Given the description of an element on the screen output the (x, y) to click on. 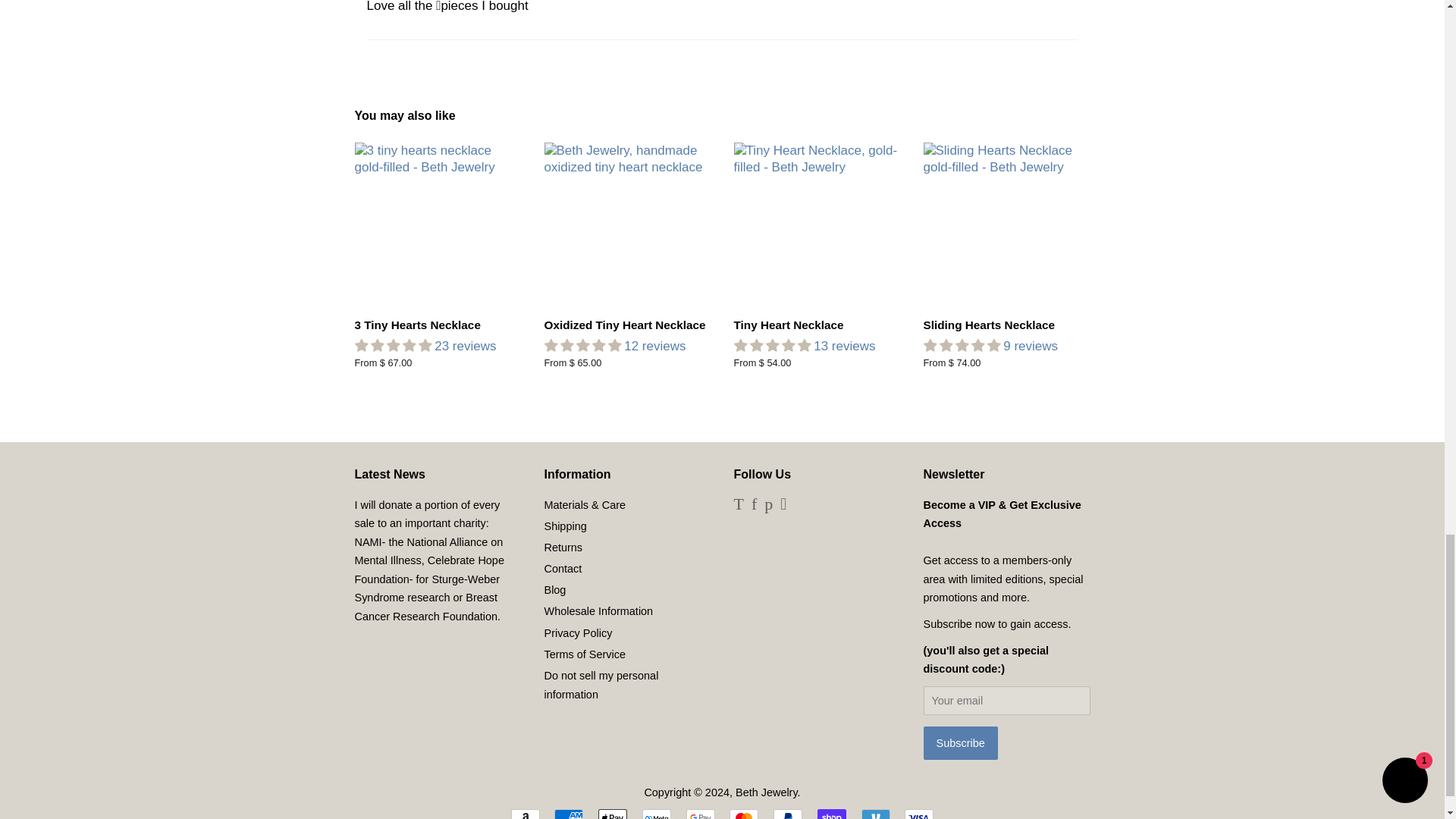
Apple Pay (612, 814)
Shop Pay (830, 814)
Mastercard (743, 814)
Beth Jewelry on Twitter (738, 505)
Beth Jewelry on Pinterest (768, 505)
Subscribe (960, 743)
Beth Jewelry on Instagram (783, 505)
Beth Jewelry on Facebook (754, 505)
Google Pay (699, 814)
Visa (918, 814)
Venmo (875, 814)
Amazon (525, 814)
American Express (568, 814)
PayPal (787, 814)
Meta Pay (656, 814)
